Given the description of an element on the screen output the (x, y) to click on. 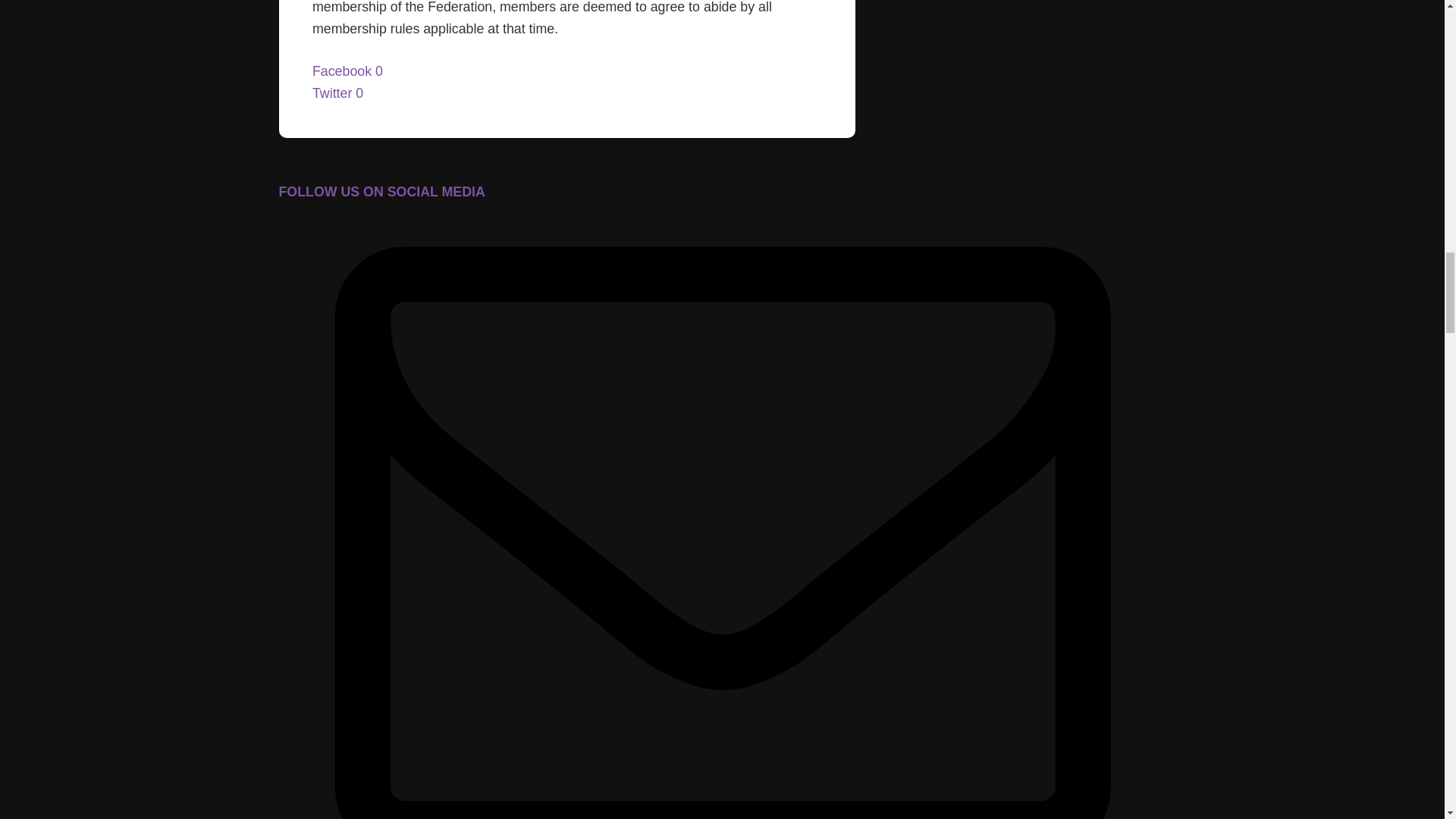
Facebook 0 (347, 70)
Twitter 0 (337, 92)
